Given the description of an element on the screen output the (x, y) to click on. 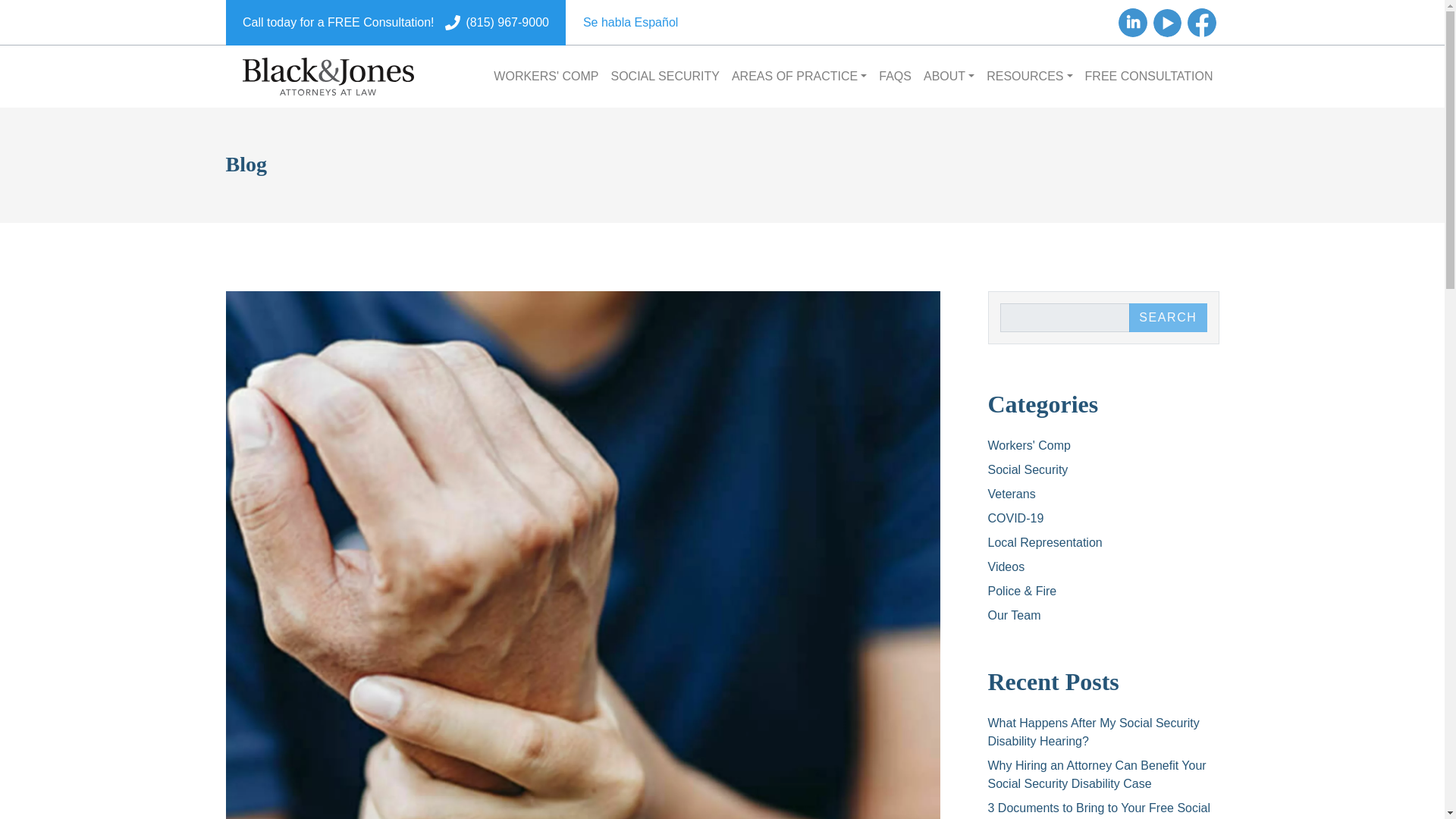
FREE CONSULTATION (1149, 76)
FAQS (894, 76)
WORKERS' COMP (545, 76)
RESOURCES (1028, 76)
AREAS OF PRACTICE (798, 76)
ABOUT (948, 76)
SEARCH (1168, 317)
SOCIAL SECURITY (665, 76)
